Given the description of an element on the screen output the (x, y) to click on. 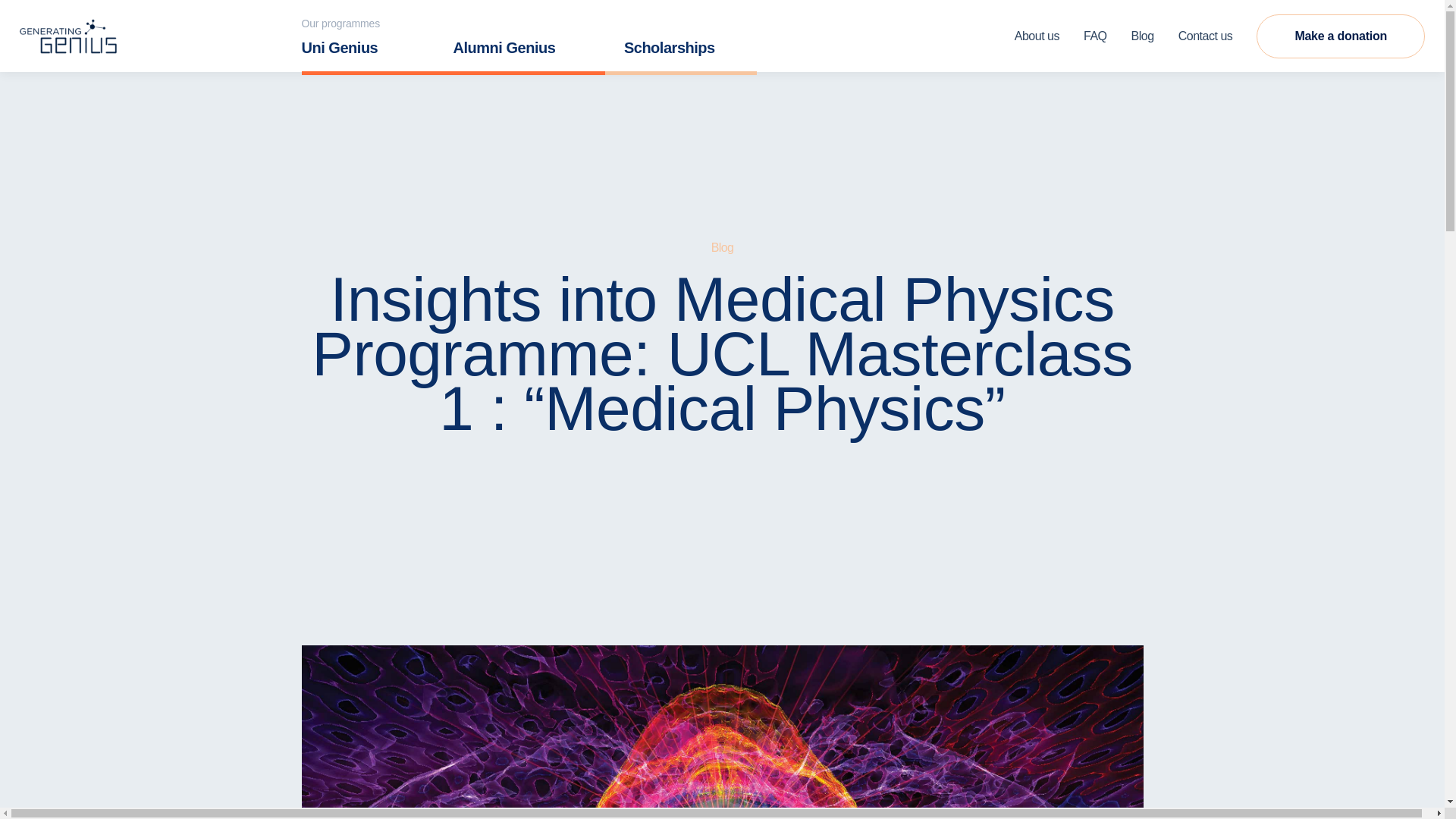
Contact us (1205, 36)
     Scholarships (681, 55)
Alumni Genius (528, 55)
Make a donation (1340, 36)
About us (1037, 36)
Uni Genius (376, 55)
